Given the description of an element on the screen output the (x, y) to click on. 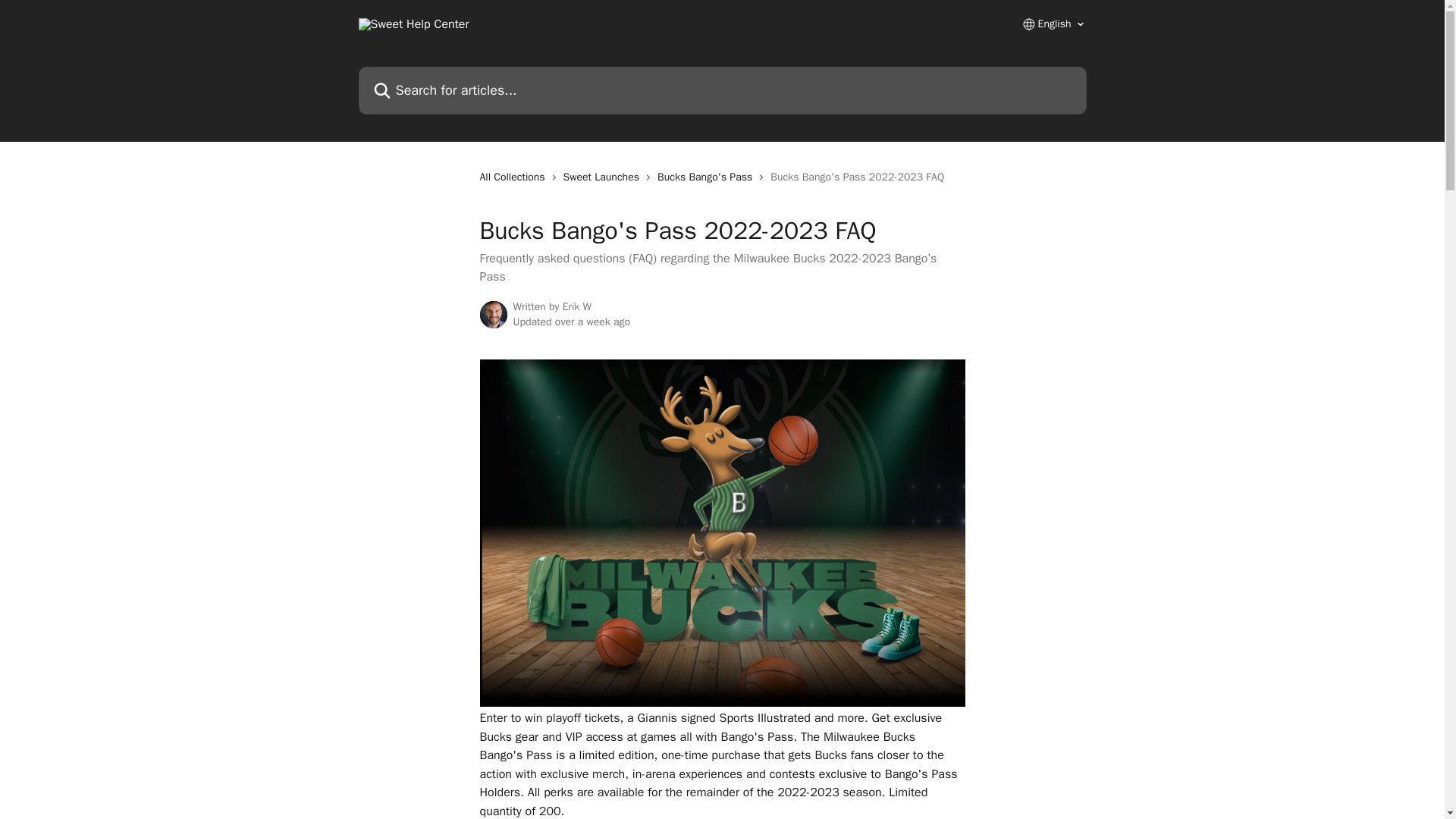
All Collections (514, 176)
Sweet Launches (604, 176)
Bucks Bango's Pass (708, 176)
